Given the description of an element on the screen output the (x, y) to click on. 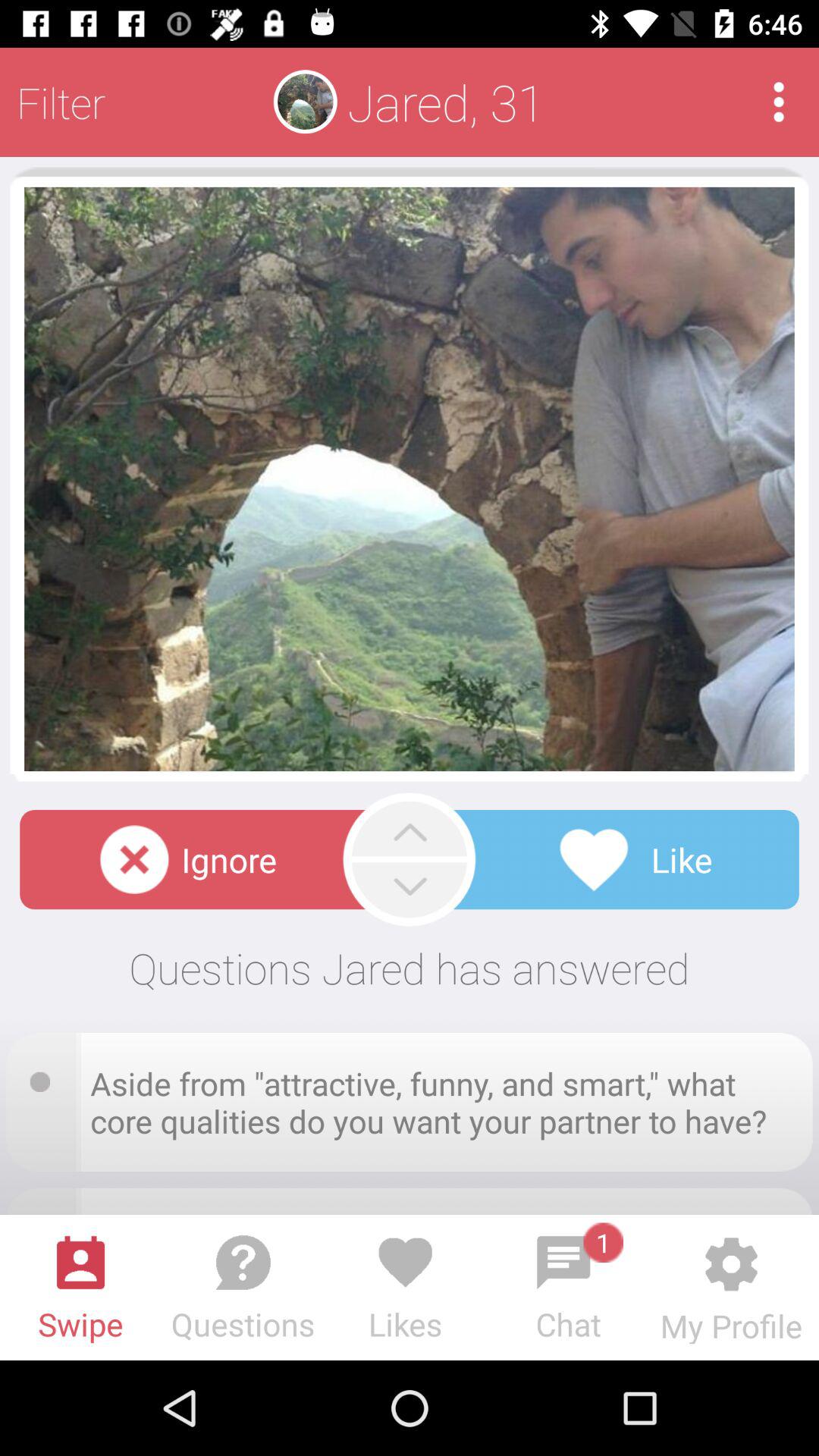
swipe until jared, 31 (445, 101)
